Given the description of an element on the screen output the (x, y) to click on. 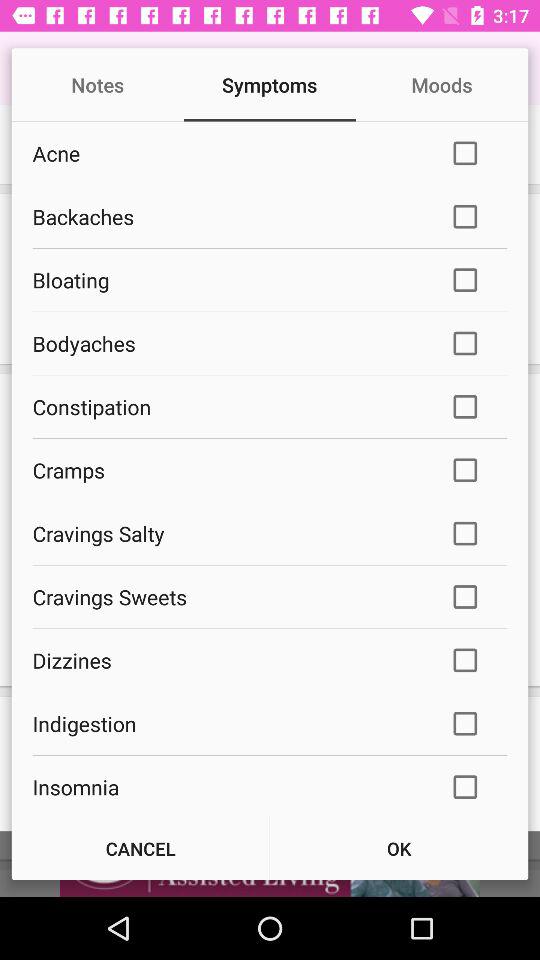
choose the item above the bloating item (227, 216)
